Given the description of an element on the screen output the (x, y) to click on. 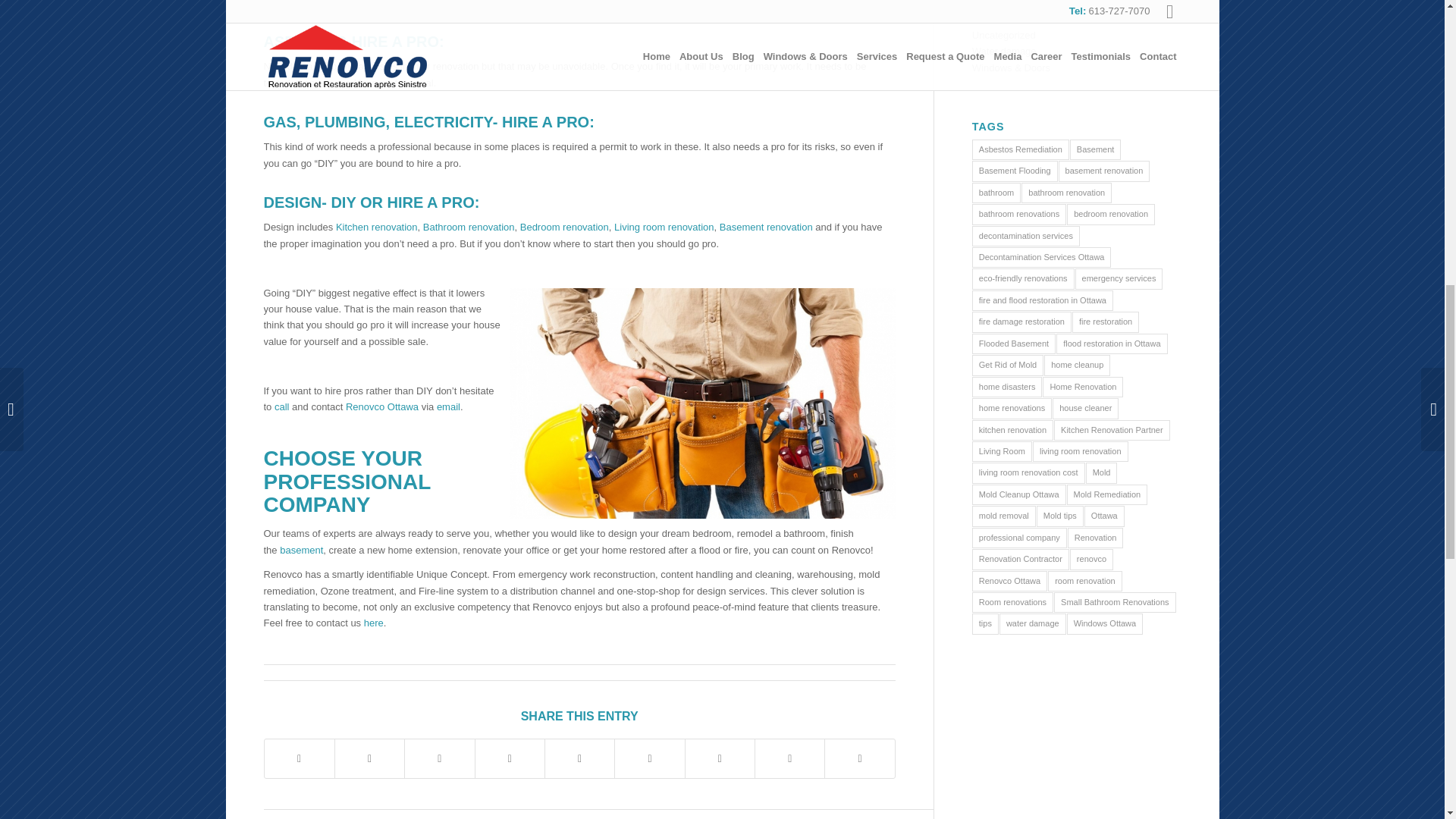
Bedroom renovation (563, 226)
Kitchen renovation (376, 226)
Living room renovation (664, 226)
Bathroom renovation (469, 226)
